Given the description of an element on the screen output the (x, y) to click on. 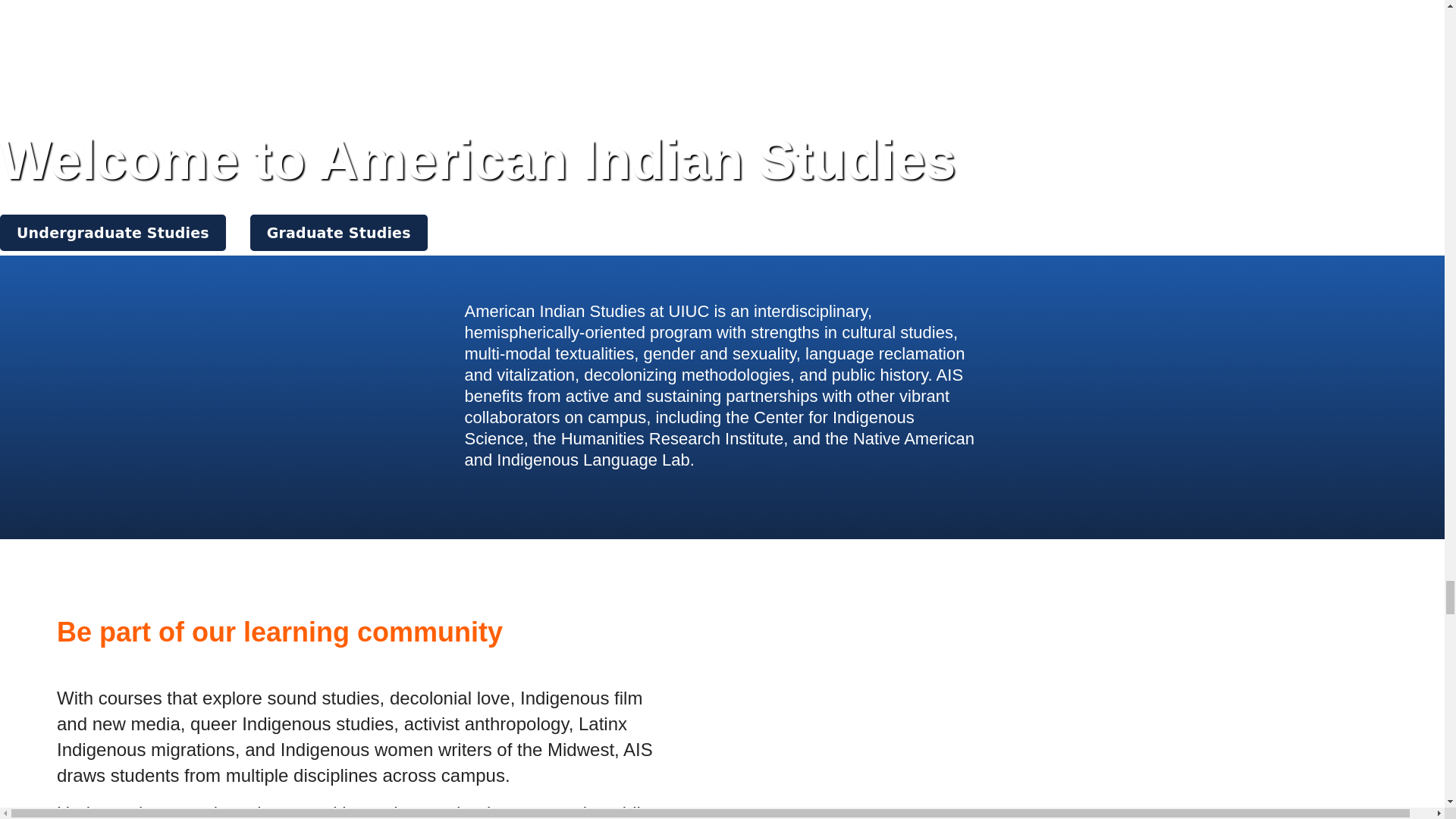
Graduate Studies (339, 232)
Undergraduate Studies (112, 232)
